Given the description of an element on the screen output the (x, y) to click on. 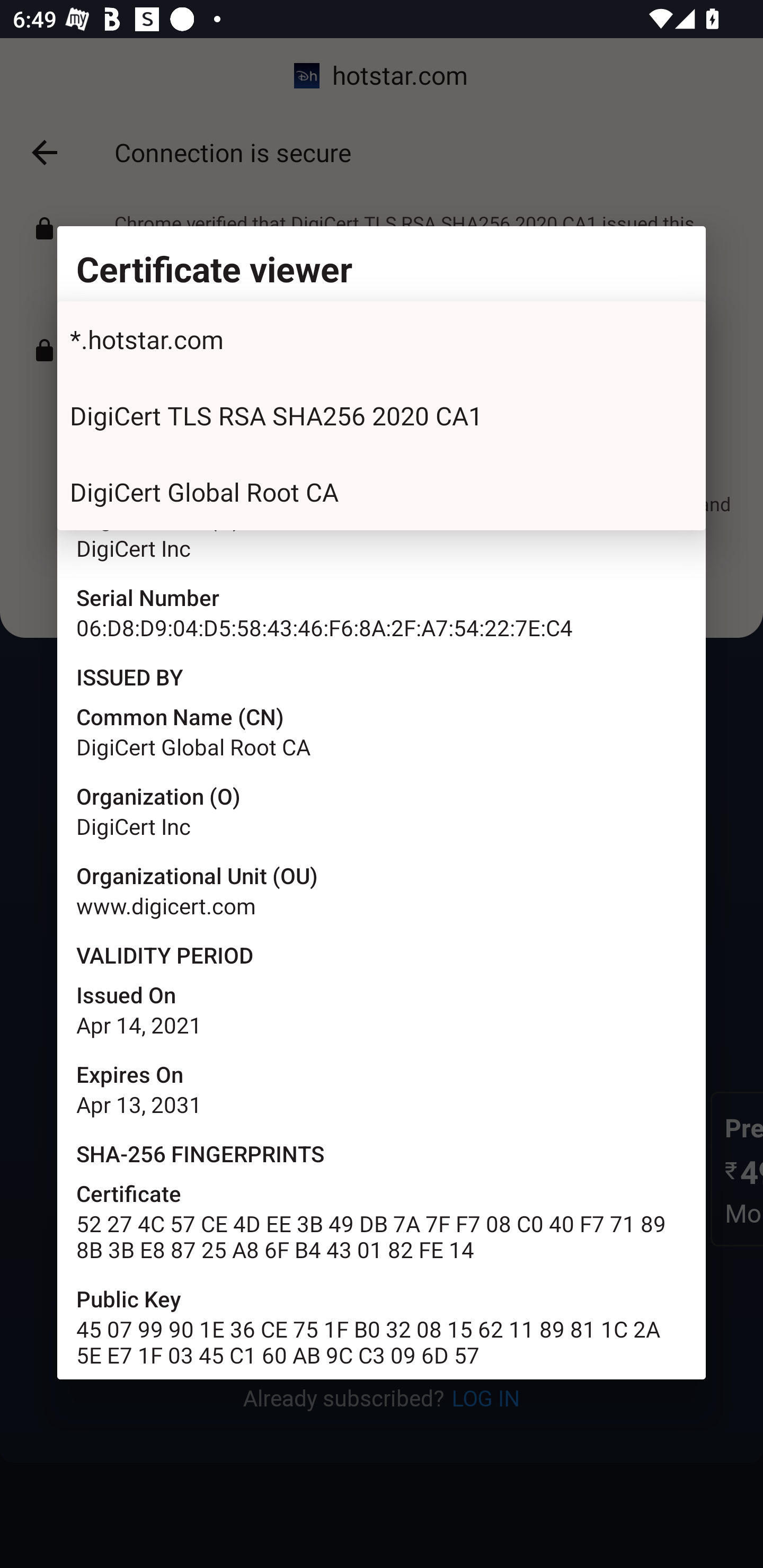
*.hotstar.com (381, 339)
DigiCert TLS RSA SHA256 2020 CA1 (381, 415)
DigiCert Global Root CA (381, 491)
